Given the description of an element on the screen output the (x, y) to click on. 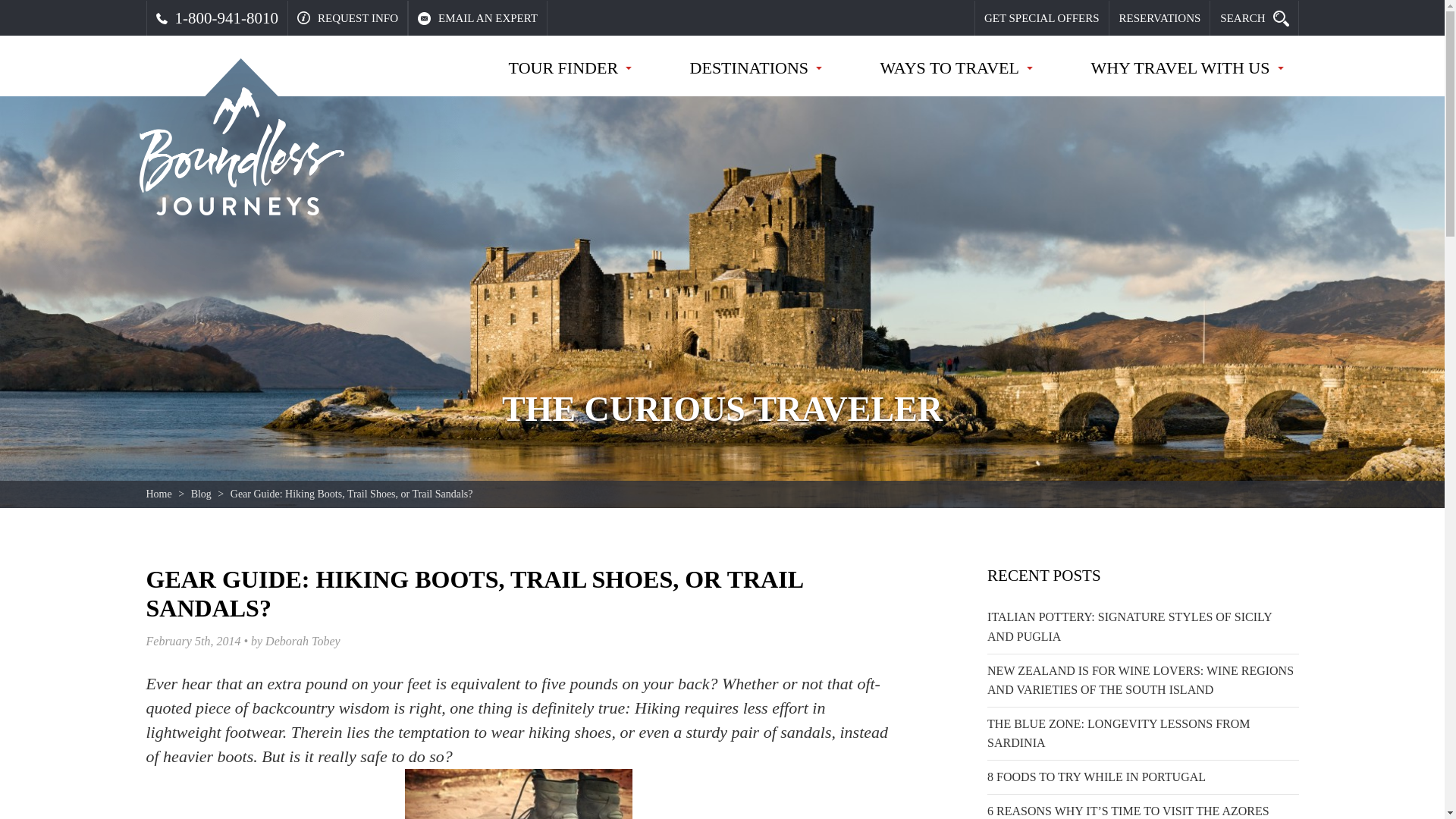
1-800-941-8010 (216, 18)
DESTINATIONS (755, 75)
Boundless Journeys (241, 151)
Get Special Offers (1041, 18)
Request More Information (347, 18)
Search (1254, 18)
Reservations (1159, 18)
Boundless Journeys (241, 151)
Return to the Blog Homepage (200, 493)
EMAIL AN EXPERT (478, 18)
REQUEST INFO (347, 18)
TOUR FINDER (569, 75)
Email an Expert (478, 18)
